Given the description of an element on the screen output the (x, y) to click on. 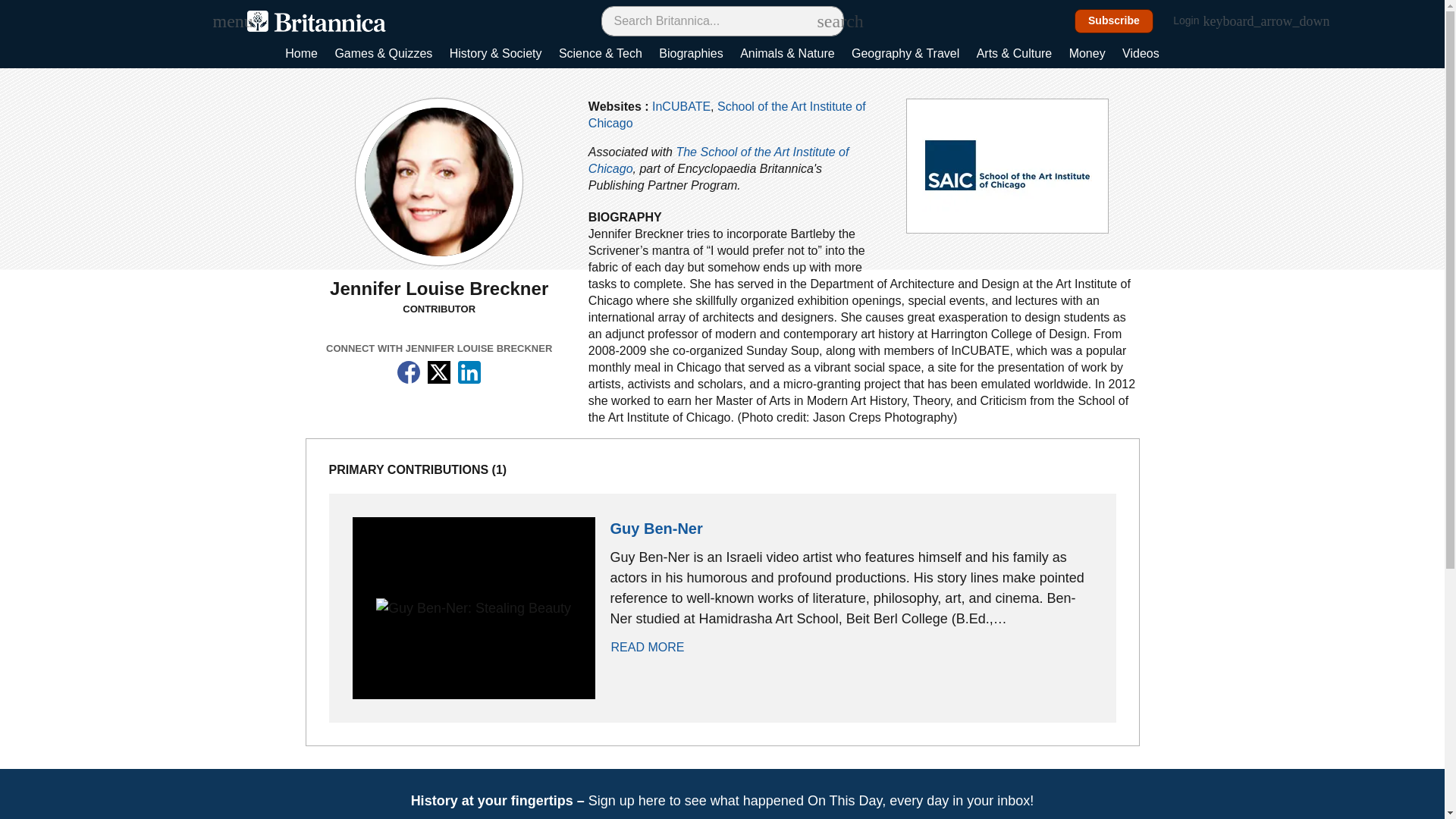
Click here to search (825, 20)
Login (1194, 20)
Subscribe (1114, 21)
